Given the description of an element on the screen output the (x, y) to click on. 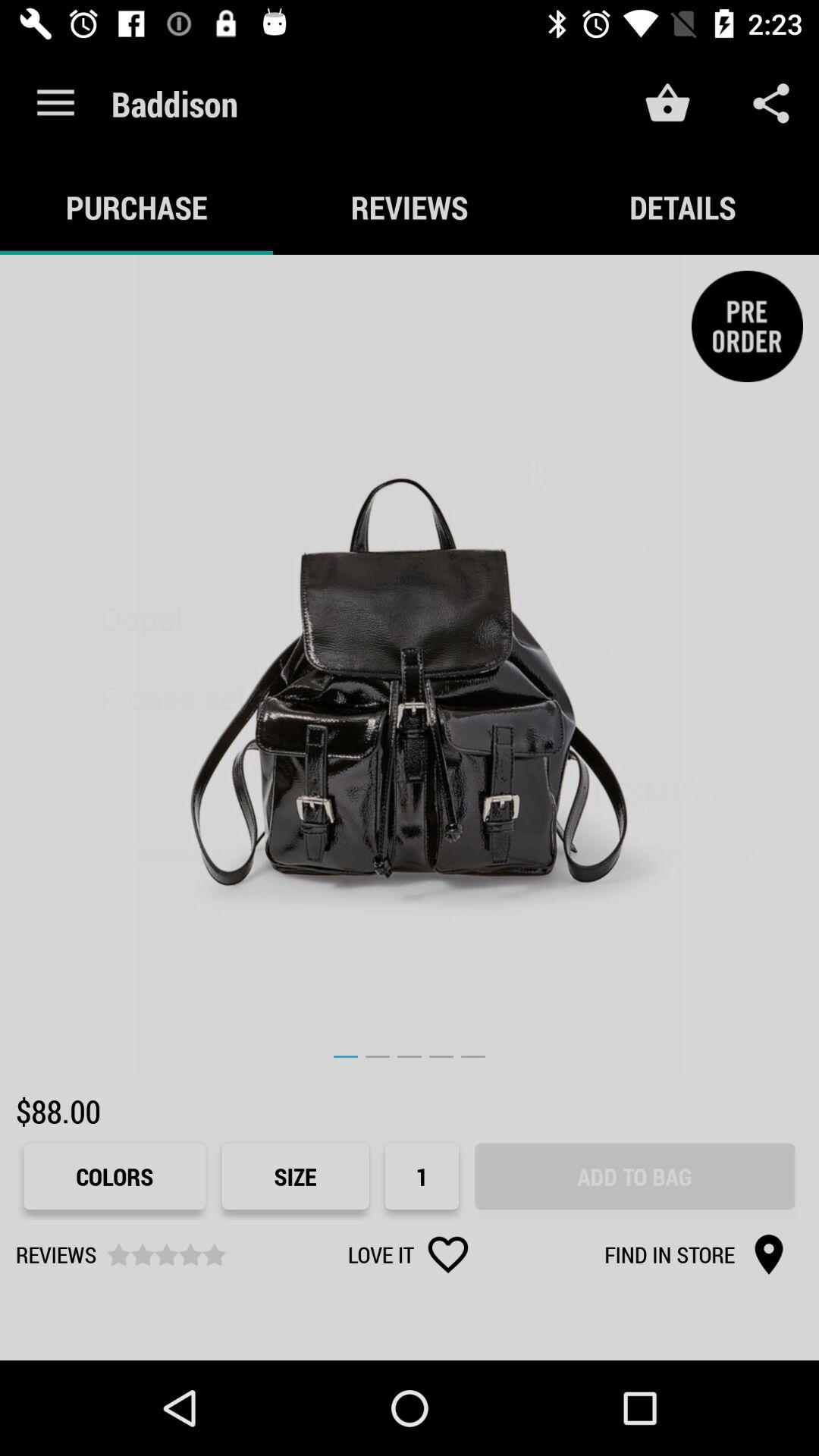
tap the icon above details icon (771, 103)
